Given the description of an element on the screen output the (x, y) to click on. 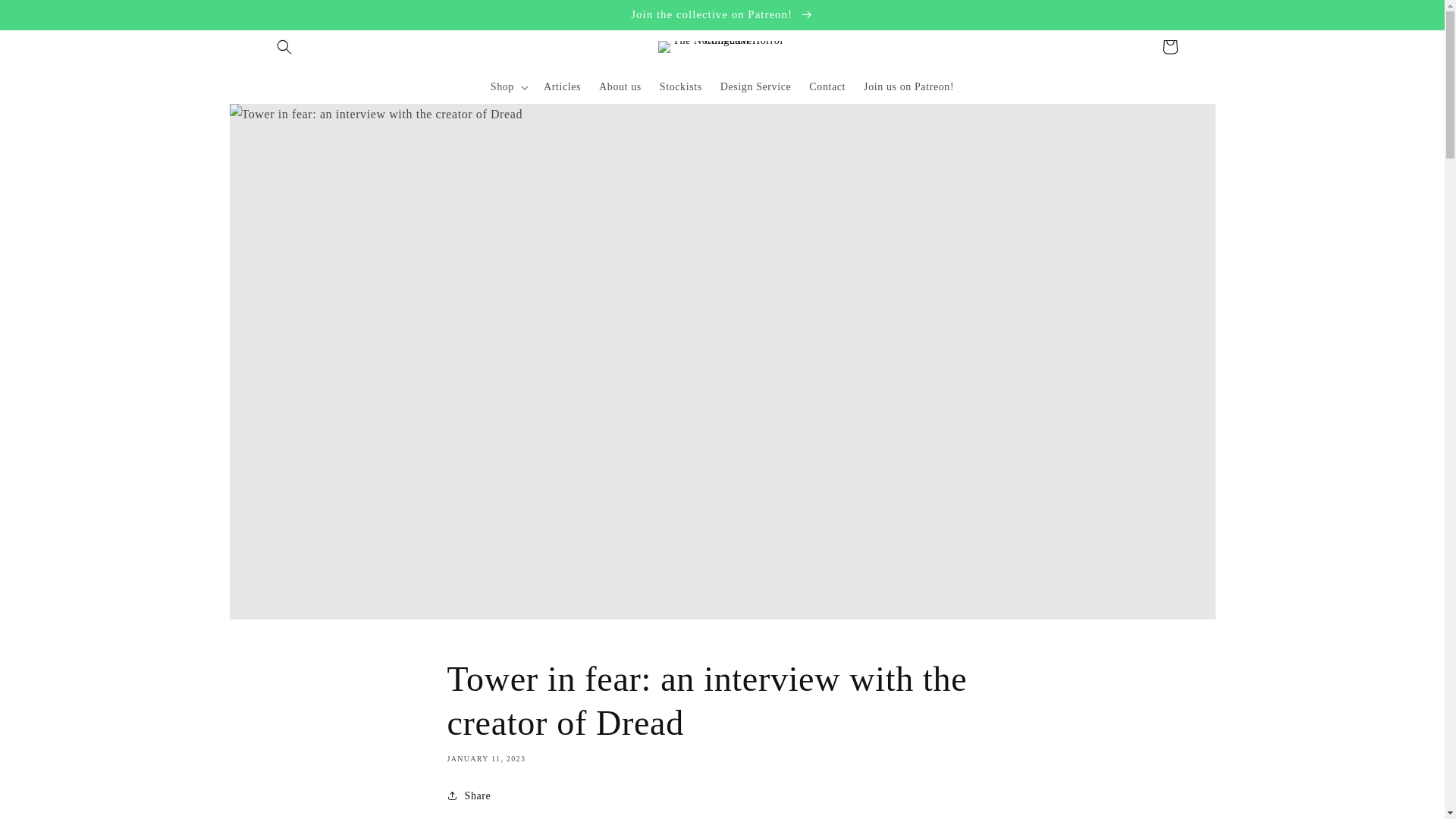
Skip to content (45, 17)
Join us on Patreon! (908, 87)
Stockists (680, 87)
Contact (826, 87)
Cart (1169, 46)
Articles (561, 87)
About us (619, 87)
Design Service (755, 87)
